Given the description of an element on the screen output the (x, y) to click on. 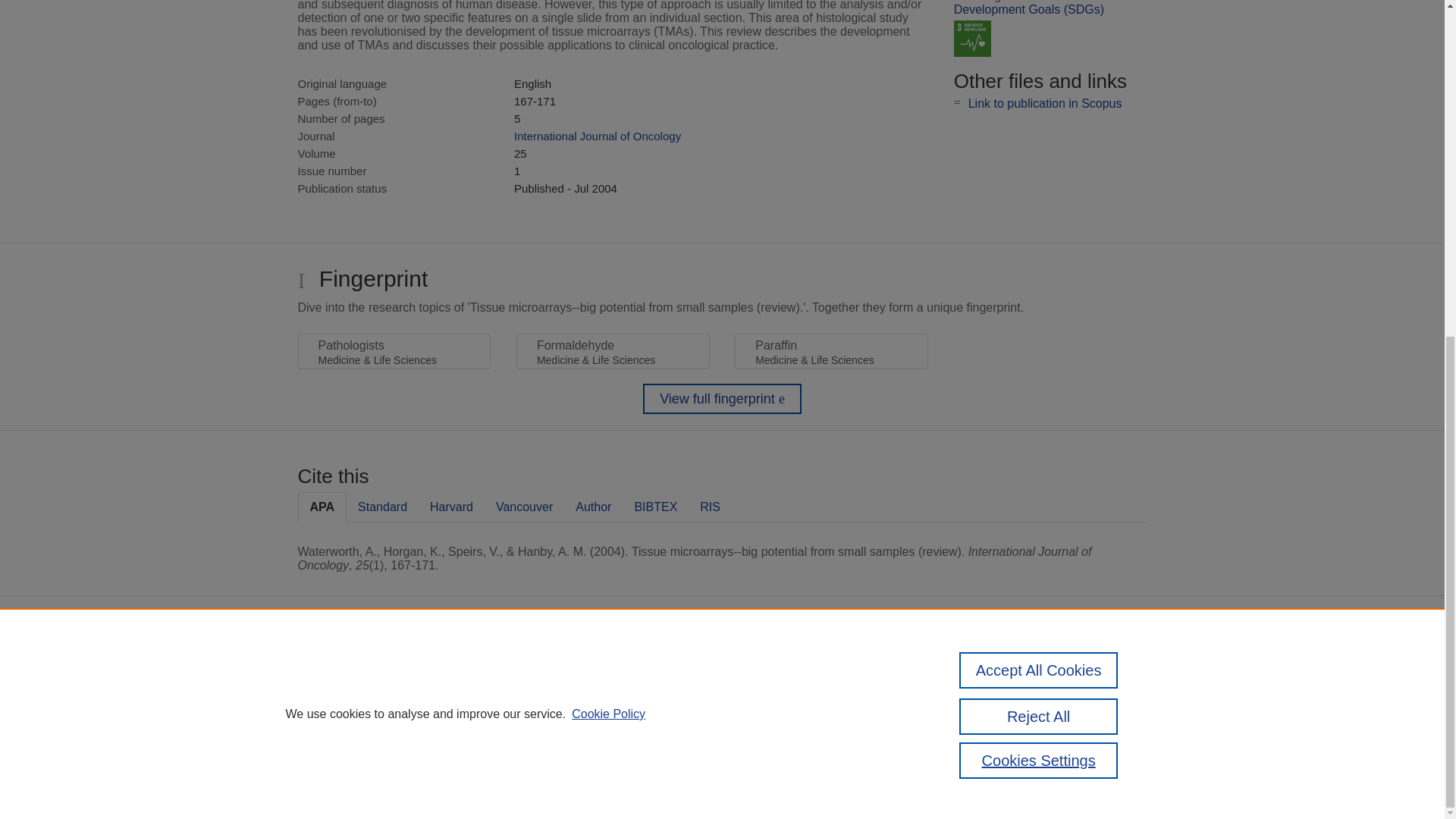
Pure (620, 671)
use of cookies (642, 746)
International Journal of Oncology (597, 135)
View full fingerprint (722, 399)
Cookies Settings (591, 767)
SDG 3 - Good Health and Well-being (972, 38)
Elsevier B.V. (764, 691)
Scopus (652, 671)
About web accessibility (1064, 714)
Link to publication in Scopus (1045, 103)
Report vulnerability (1055, 735)
